Given the description of an element on the screen output the (x, y) to click on. 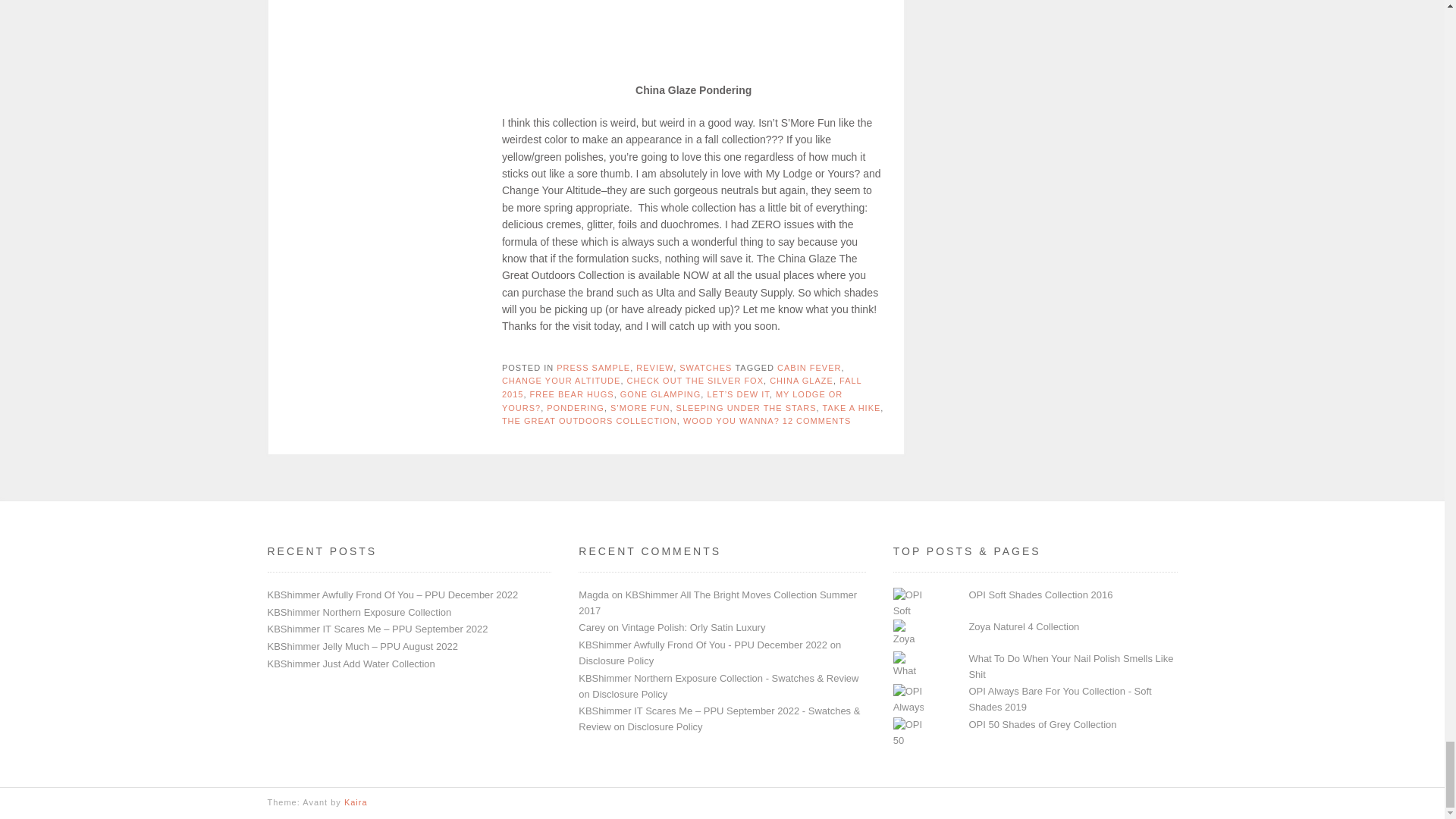
OPI 50 Shades of Grey Collection (1042, 724)
OPI Soft Shades Collection 2016 (1040, 594)
REVIEW (654, 367)
PRESS SAMPLE (593, 367)
Zoya Naturel 4 Collection (1023, 626)
What To Do When Your Nail Polish Smells Like Shit (1070, 666)
OPI Always Bare For You Collection - Soft Shades 2019 (1059, 698)
